Given the description of an element on the screen output the (x, y) to click on. 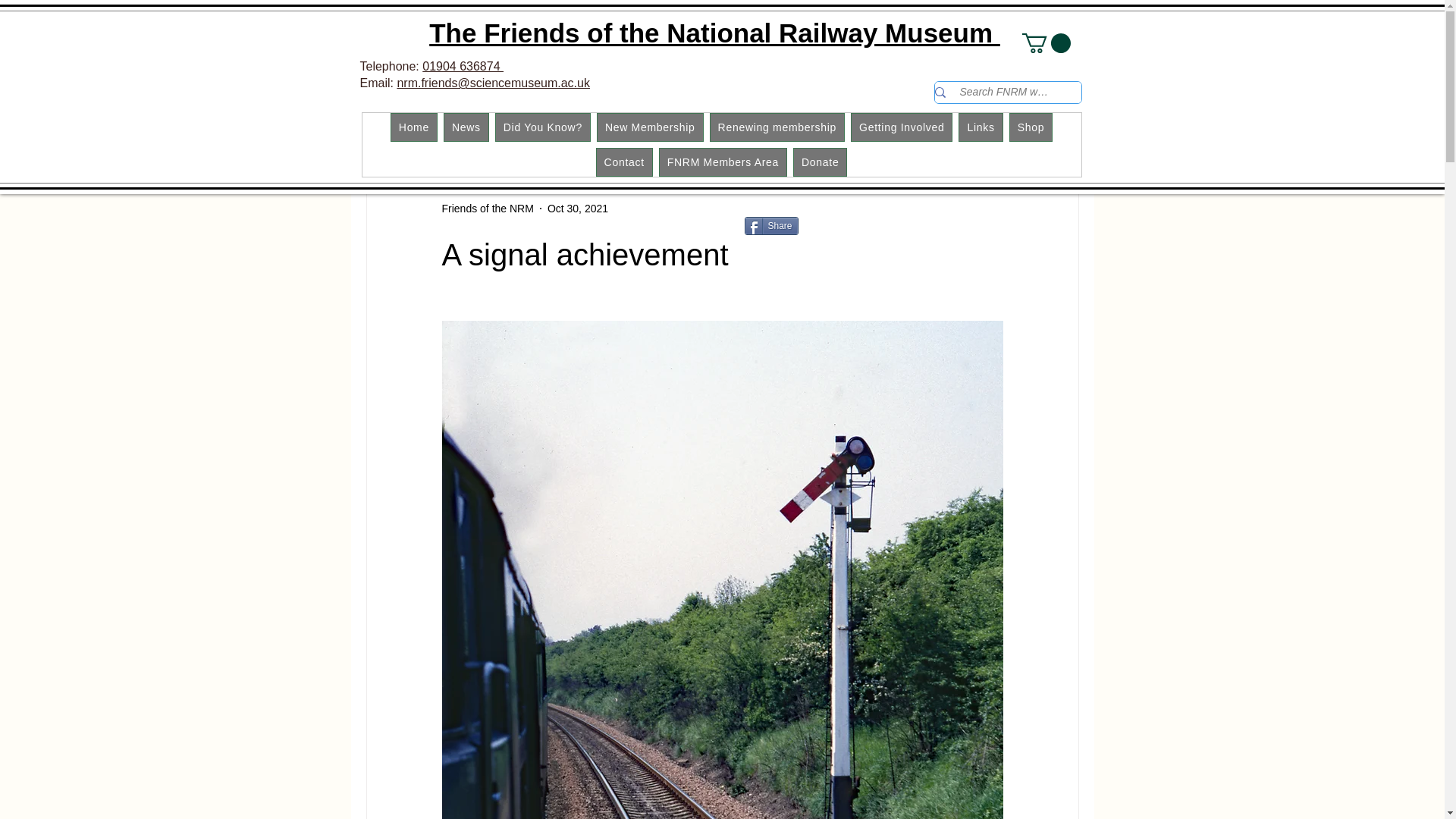
Donate (820, 162)
Getting Involved (901, 127)
Renewing membership (777, 127)
Friends of the NRM (486, 208)
Links (980, 127)
Twitter Tweet (833, 225)
Oct 30, 2021 (577, 208)
Did You Know? (543, 127)
Share (770, 226)
Contact (623, 162)
01904 636874  (462, 65)
Shop (1030, 127)
The Friends of the National Railway Museum  (714, 32)
New Membership (649, 127)
Friends of the NRM (486, 208)
